Given the description of an element on the screen output the (x, y) to click on. 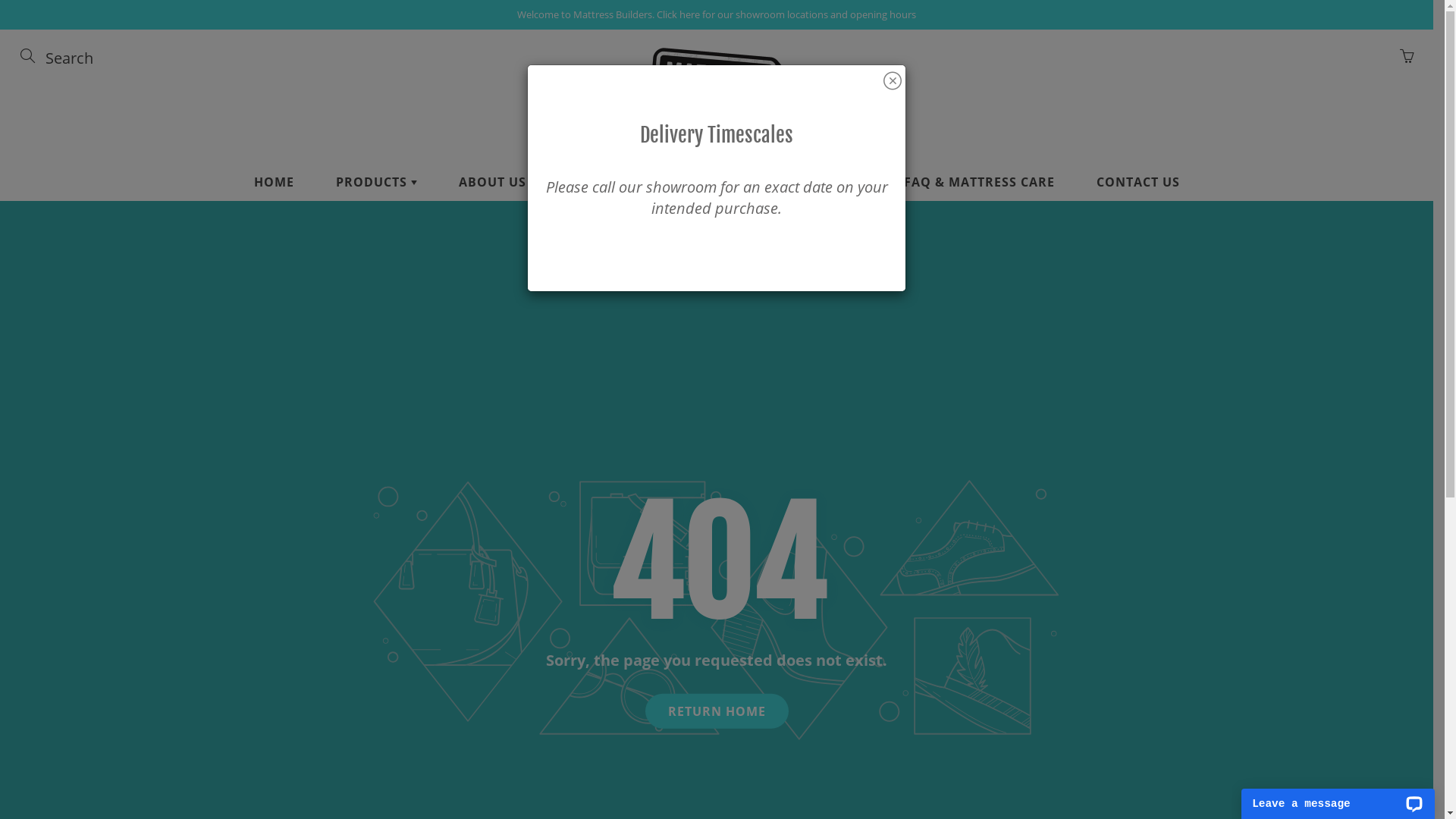
RETURN HOME Element type: text (715, 710)
SHIPPING COSTS Element type: text (807, 181)
HOME Element type: text (274, 181)
PRODUCTS Element type: text (376, 181)
FAQ & MATTRESS CARE Element type: text (978, 181)
CONTACT US Element type: text (1137, 181)
CUSTOM MATTRESSES Element type: text (639, 181)
You have 0 items in your cart Element type: text (1406, 55)
Search Element type: text (28, 55)
ABOUT US Element type: text (492, 181)
